Given the description of an element on the screen output the (x, y) to click on. 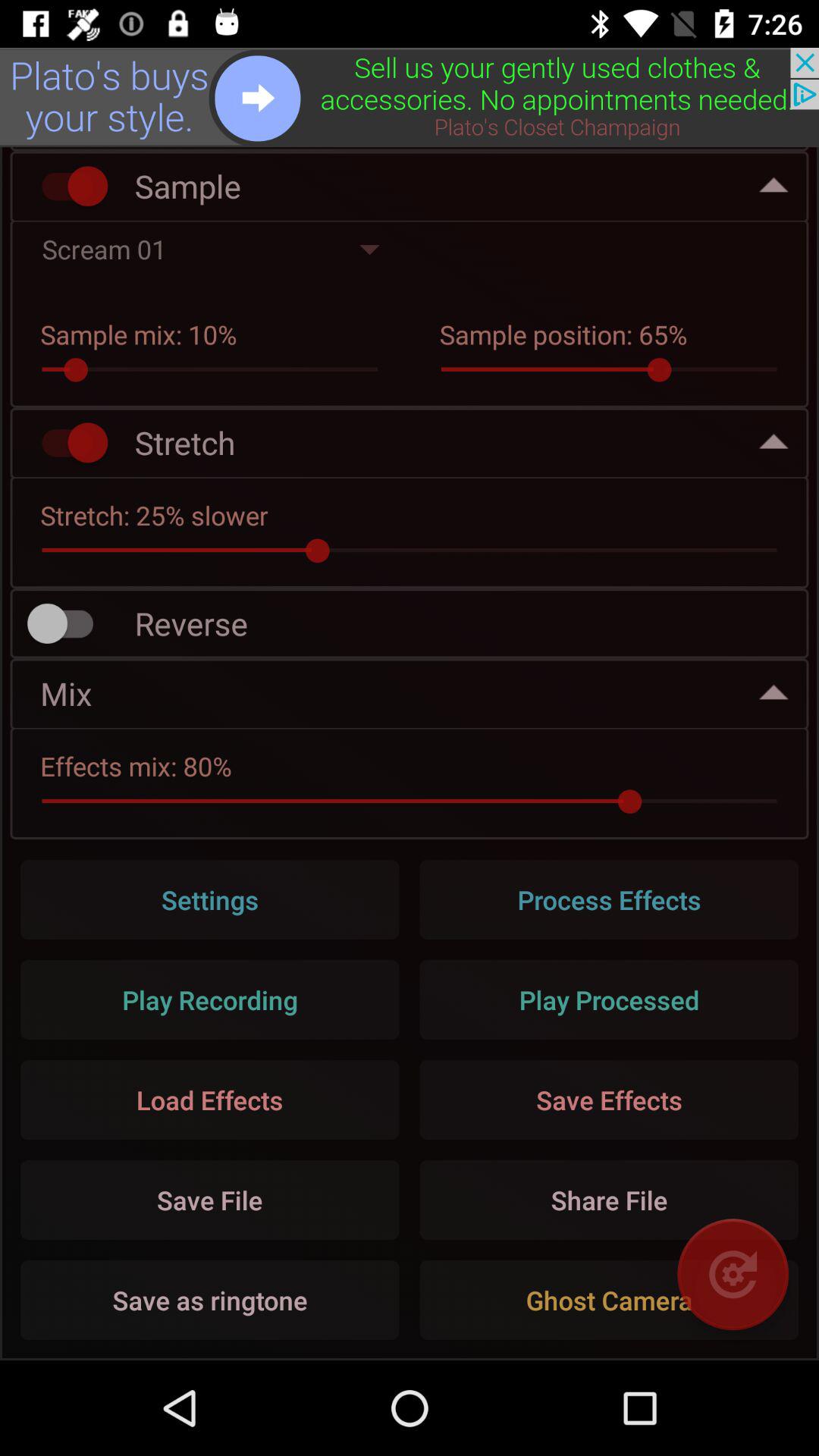
record audio backwards (67, 623)
